Given the description of an element on the screen output the (x, y) to click on. 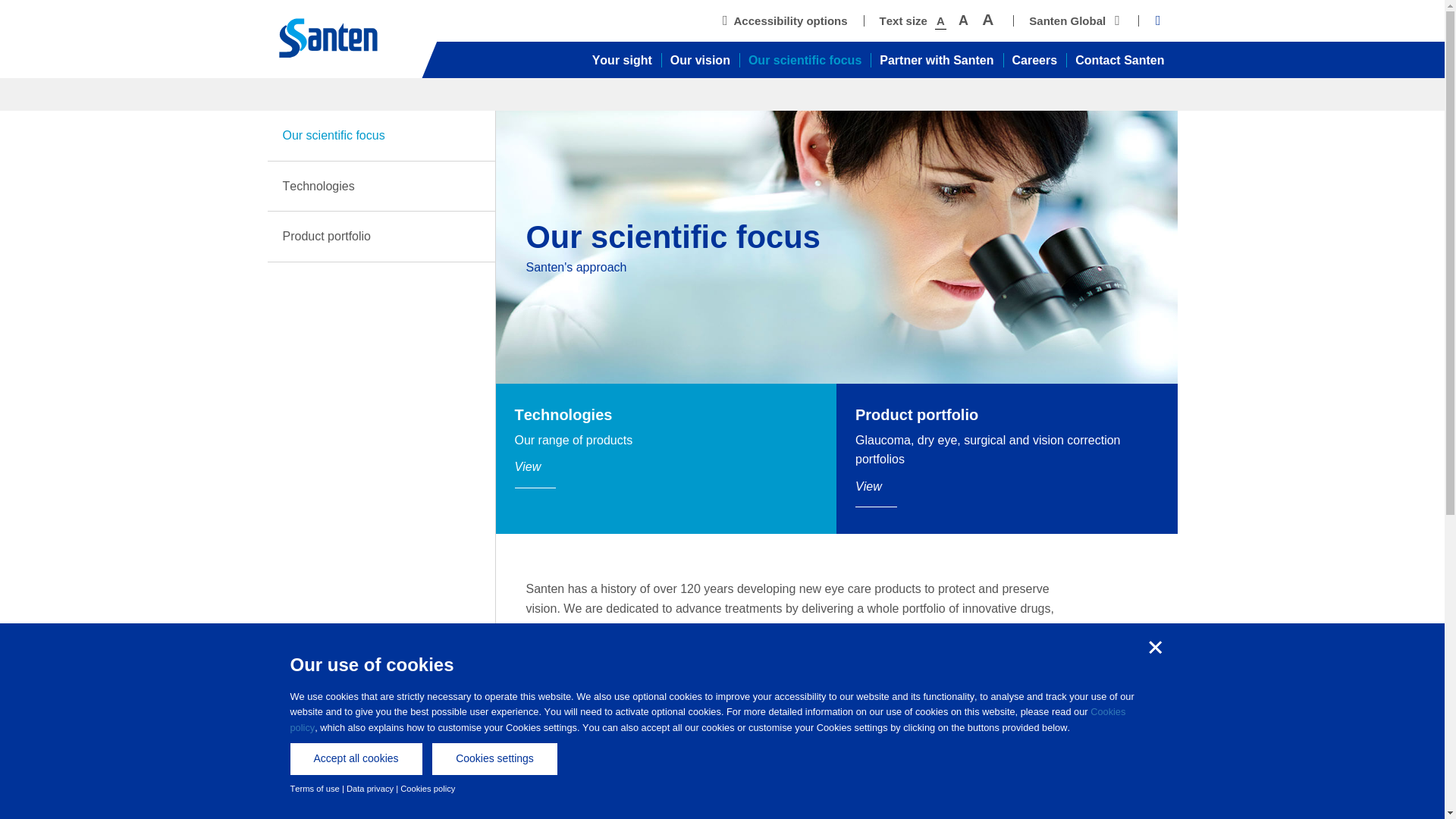
Accessibility options (784, 20)
Home (343, 38)
